Given the description of an element on the screen output the (x, y) to click on. 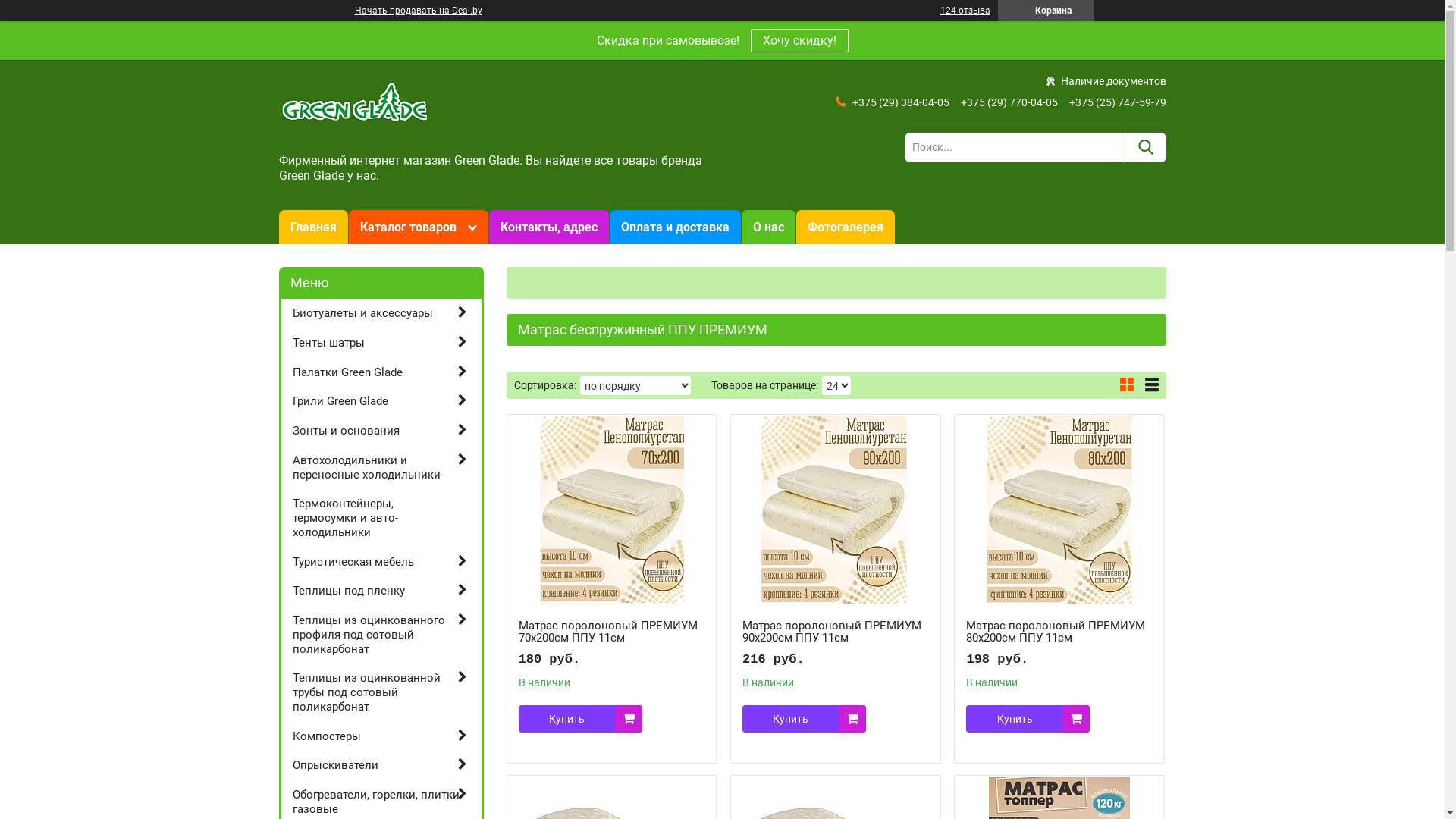
Green-Glade.by Element type: hover (354, 107)
